Given the description of an element on the screen output the (x, y) to click on. 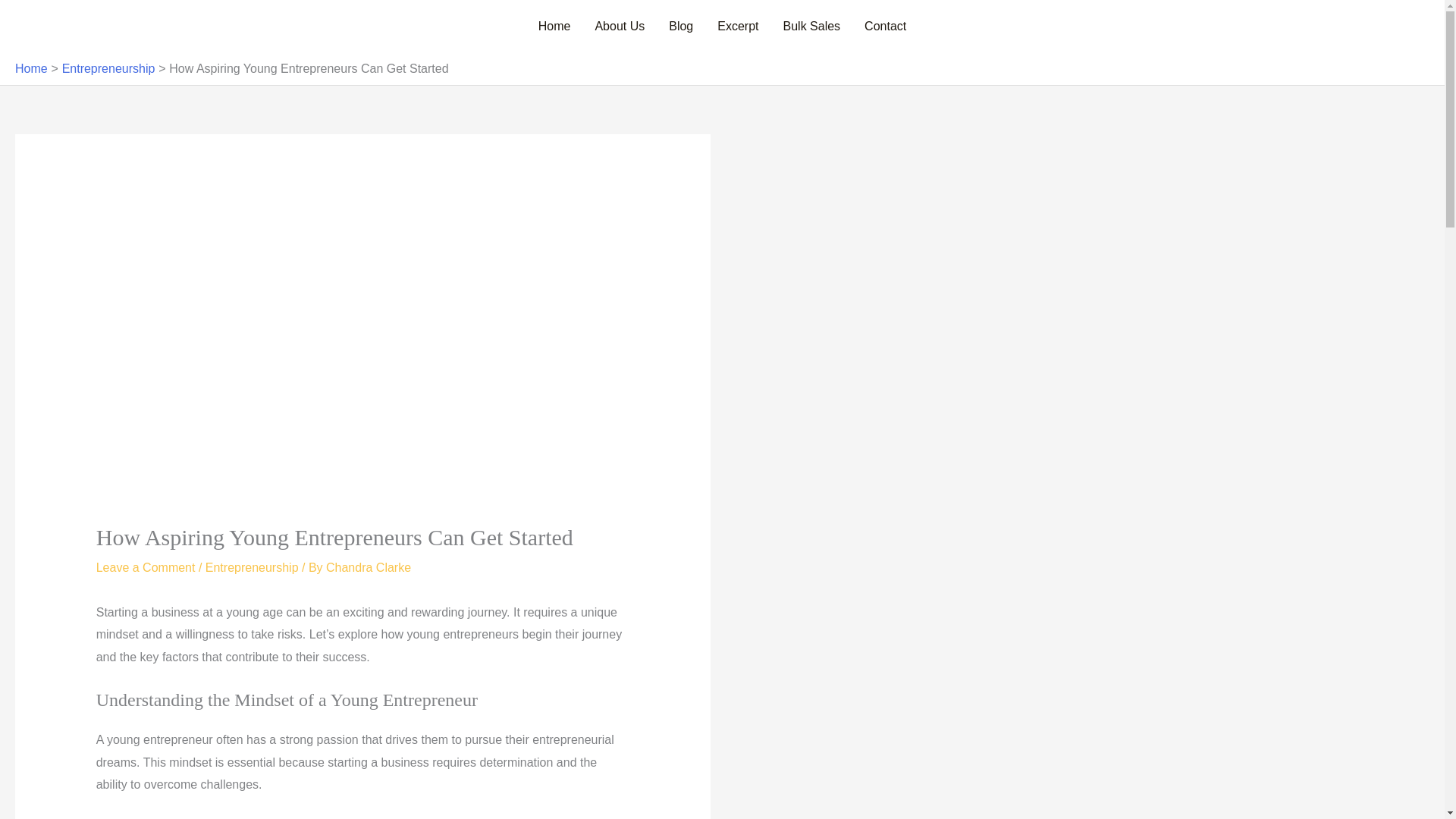
Home (554, 26)
Leave a Comment (145, 567)
Blog (680, 26)
Chandra Clarke (368, 567)
View all posts by Chandra Clarke (368, 567)
Home (31, 68)
Entrepreneurship (251, 567)
Contact (884, 26)
Entrepreneurship (108, 68)
Bulk Sales (812, 26)
About Us (619, 26)
Excerpt (737, 26)
